Given the description of an element on the screen output the (x, y) to click on. 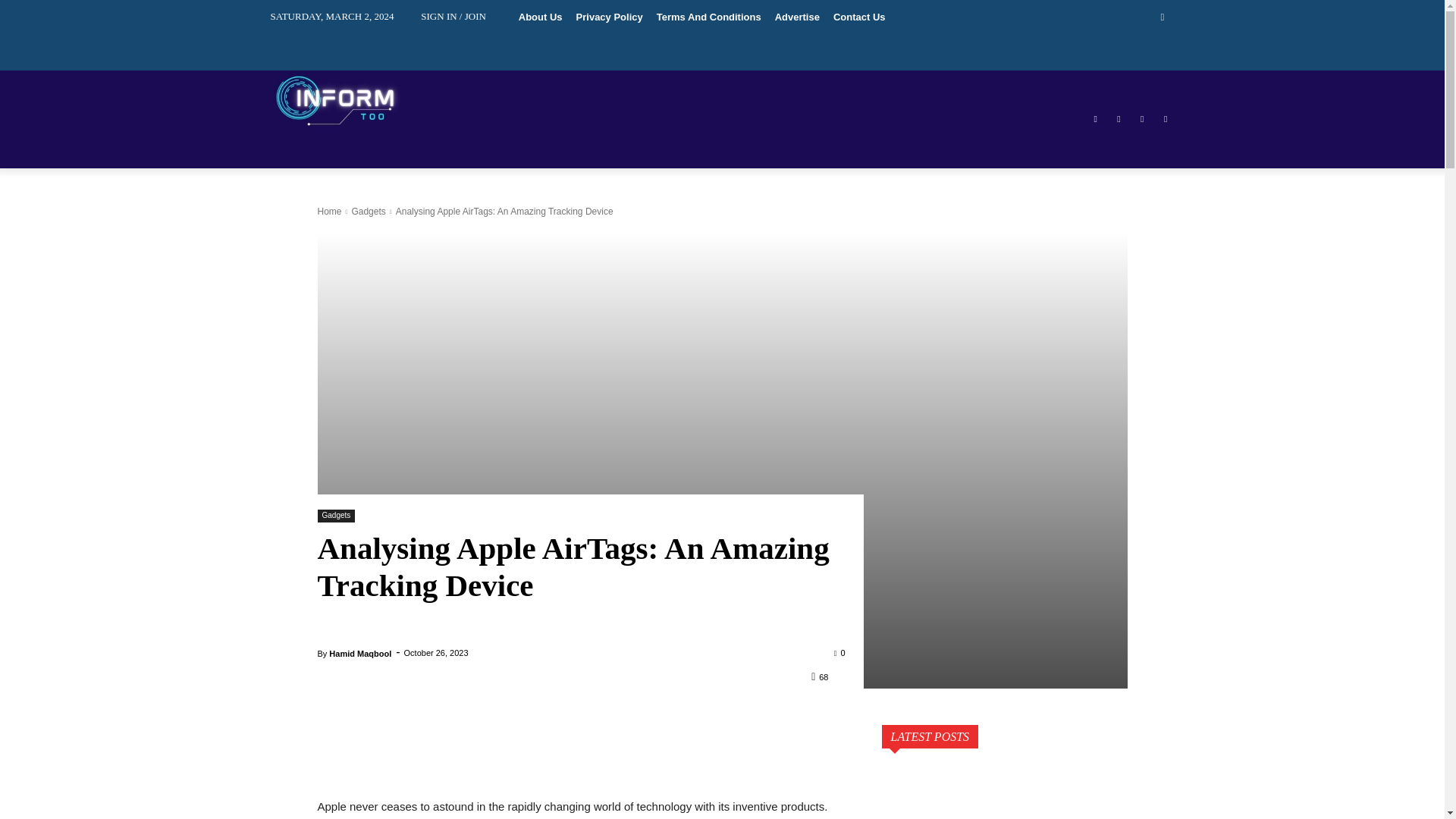
Contact Us (859, 16)
Youtube (1165, 118)
View all posts in Gadgets (367, 211)
Advertise (797, 16)
Twitter (1142, 118)
Facebook (1094, 118)
Privacy Policy (609, 16)
Instagram (1117, 118)
Terms And Conditions (708, 16)
About Us (540, 16)
